Given the description of an element on the screen output the (x, y) to click on. 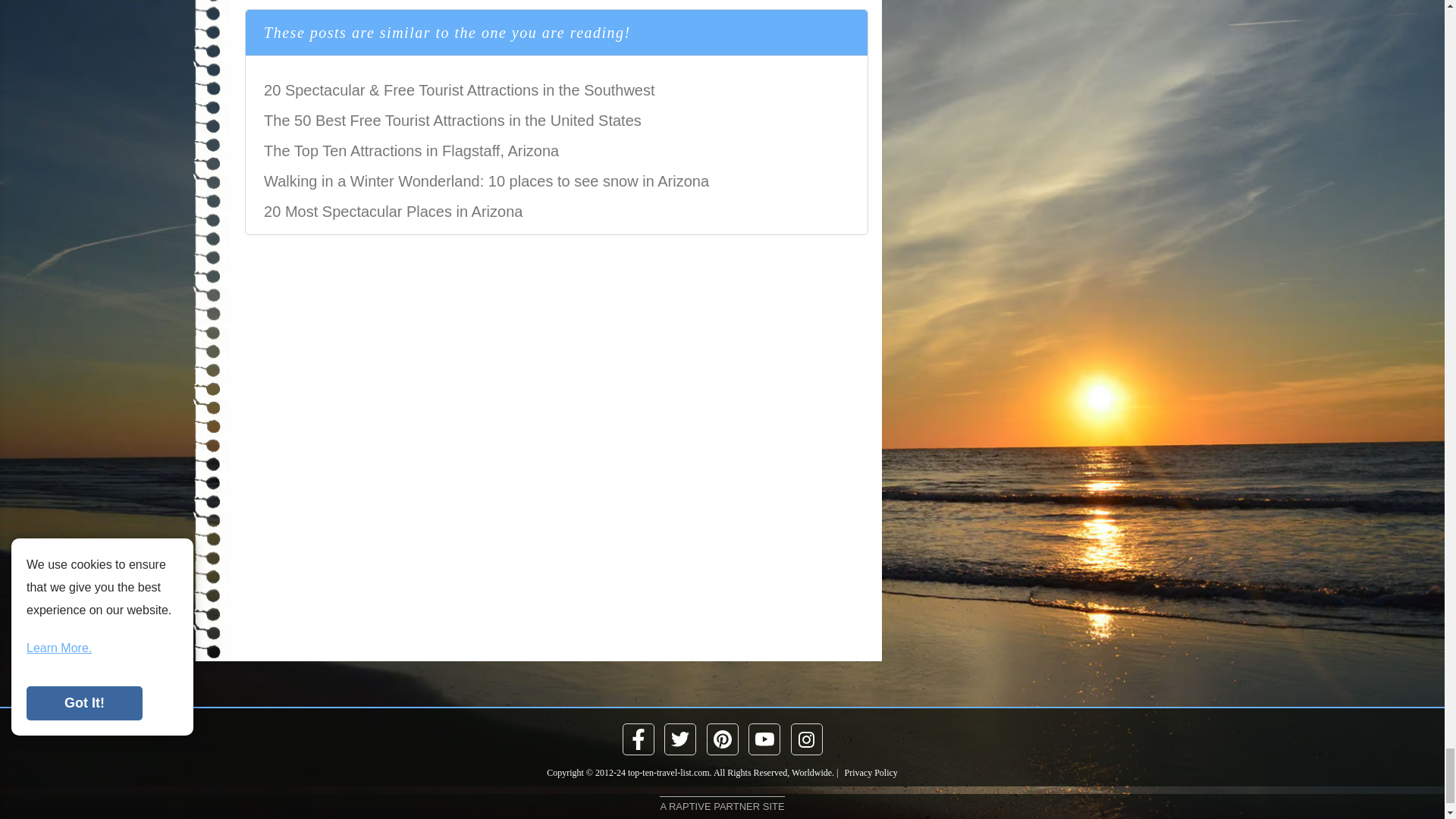
Top Ten Travel List on Facebook (638, 739)
Top Ten Travel List on Twitter (680, 739)
Top Ten Travel List on Instagram (807, 739)
Top Ten Travel List on Pinterest (721, 739)
Top Ten Travel List on Youtube (763, 739)
